Given the description of an element on the screen output the (x, y) to click on. 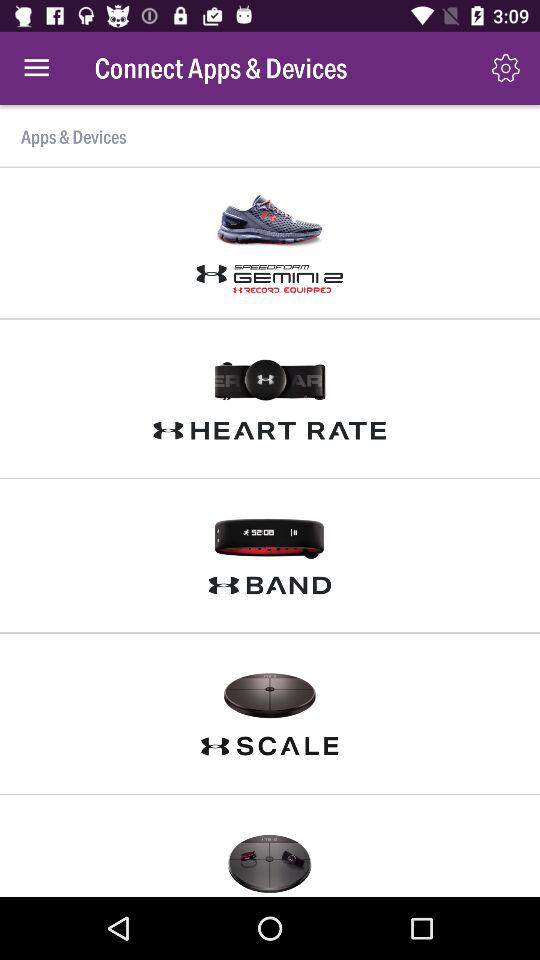
open the item next to connect apps & devices item (36, 68)
